Given the description of an element on the screen output the (x, y) to click on. 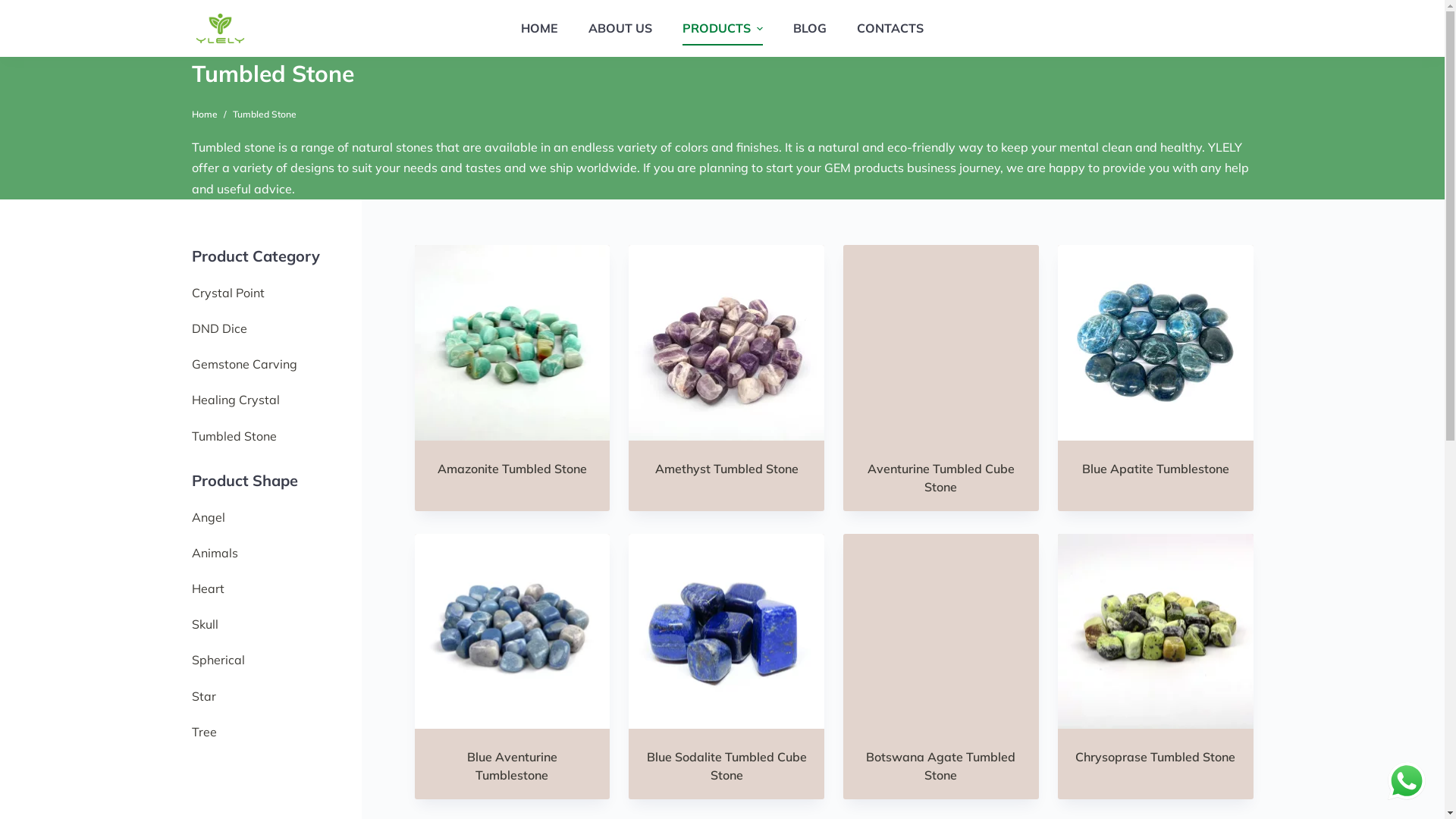
CONTACTS Element type: text (889, 28)
DND Dice Element type: text (863, 585)
Home Element type: text (624, 556)
Skull Element type: text (204, 624)
Healing Crystal Element type: text (235, 399)
Heart Element type: text (207, 588)
Angel Element type: text (207, 517)
Crystal Point Element type: text (227, 292)
Skip to content Element type: text (15, 7)
Animals Element type: text (214, 552)
Gemstone Carving Element type: text (888, 613)
Blue Aventurine Tumblestone Element type: text (512, 765)
Amethyst Tumbled Stone Element type: text (726, 468)
Spherical Element type: text (217, 659)
Tree Element type: text (203, 731)
Star Element type: text (203, 696)
About Us Element type: text (634, 585)
+86 18819035980 Element type: text (1157, 647)
Guasha Products Element type: text (292, 618)
Blue Apatite Tumblestone Element type: text (1155, 468)
Aventurine Tumbled Cube Stone Element type: text (940, 477)
Chrysoprase Tumbled Stone Element type: text (1155, 756)
Gemstone Carving Element type: text (243, 364)
Amazonite Tumbled Stone Element type: text (511, 468)
Blog Element type: text (620, 641)
PRODUCTS Element type: text (722, 28)
Tumbled Stone Element type: text (877, 669)
Home Element type: text (203, 114)
DND Dice Element type: text (218, 328)
Botswana Agate Tumbled Stone Element type: text (940, 765)
Products Element type: text (633, 613)
Healing Crystal Element type: text (879, 641)
BLOG Element type: text (809, 28)
HOME Element type: text (539, 28)
Tumbled Stone Element type: text (233, 436)
WhatsApp Element type: hover (1406, 781)
info@ylely.com Element type: text (1145, 595)
Contacts Element type: text (633, 669)
Blue Sodalite Tumbled Cube Stone Element type: text (726, 765)
Crystal Point Tower Element type: text (891, 556)
ABOUT US Element type: text (620, 28)
